Given the description of an element on the screen output the (x, y) to click on. 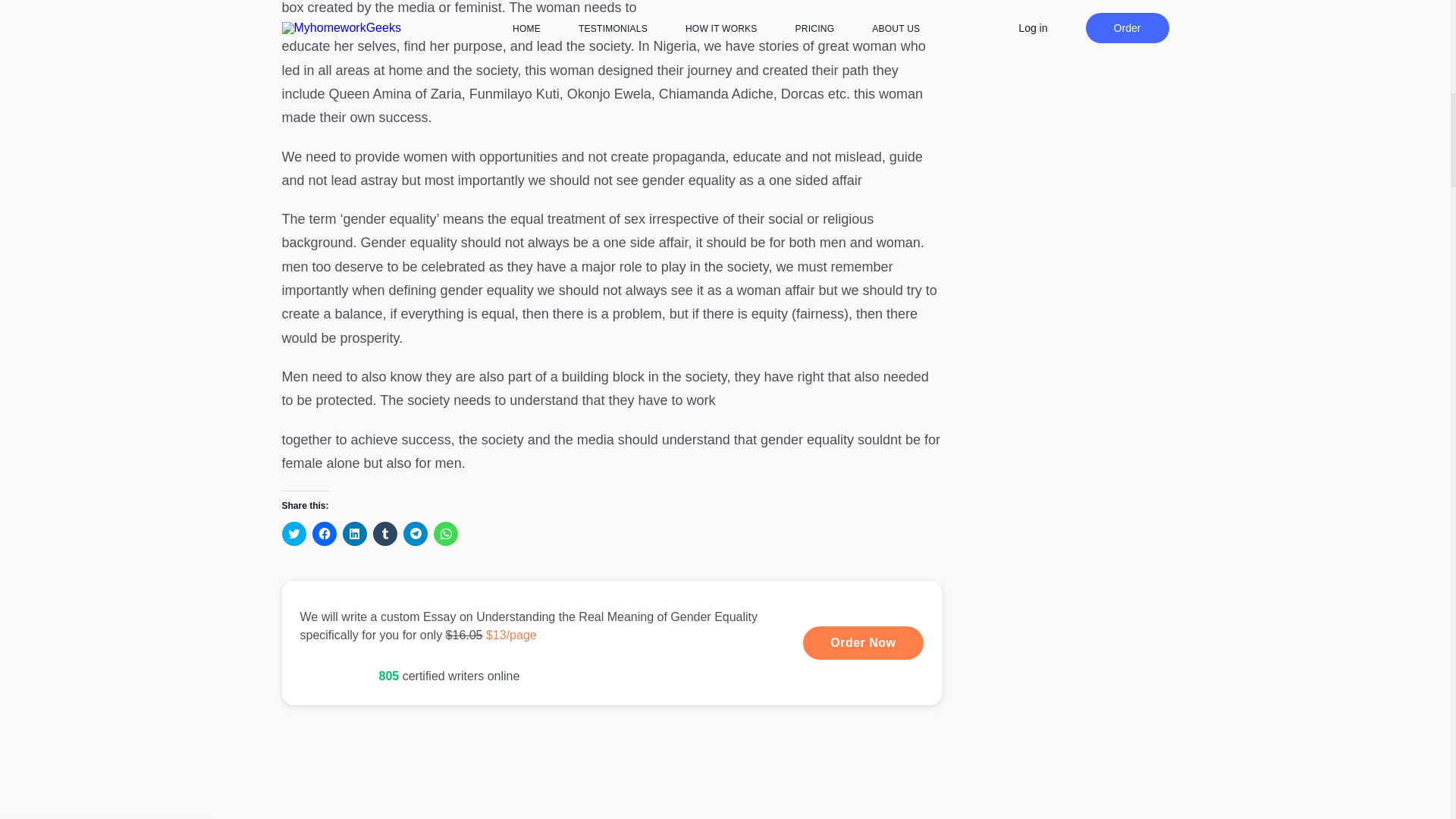
Learn More (612, 642)
Click to share on Telegram (415, 533)
Click to share on Tumblr (384, 533)
Click to share on WhatsApp (445, 533)
Click to share on LinkedIn (354, 533)
Click to share on Facebook (324, 533)
Learn More (863, 643)
Click to share on Twitter (293, 533)
